Given the description of an element on the screen output the (x, y) to click on. 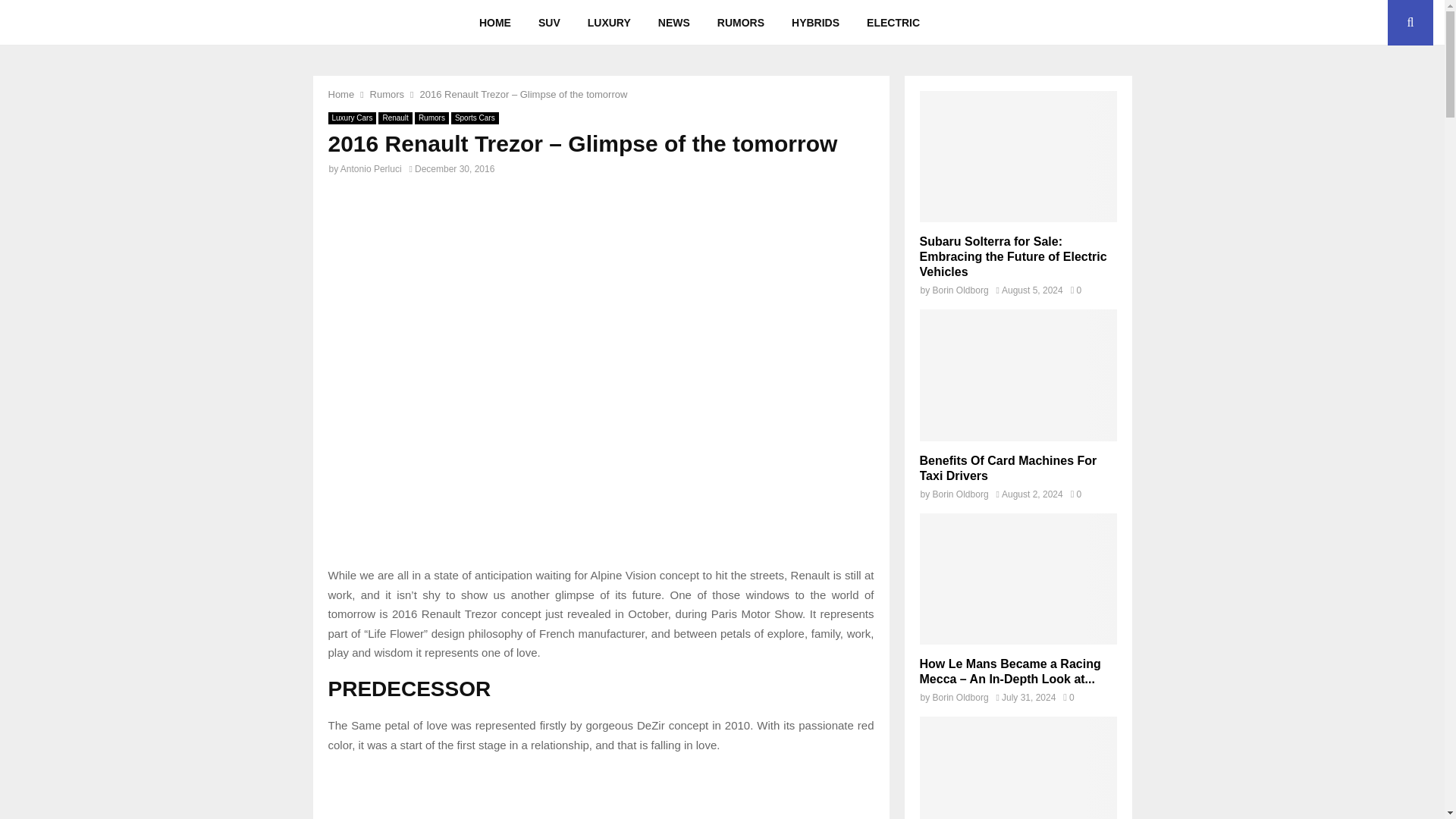
Sports Cars (475, 118)
NEWS (674, 22)
RUMORS (740, 22)
HOME (494, 22)
Renault (395, 118)
Home (340, 93)
 Benefits Of Card Machines For Taxi Drivers  (1007, 468)
Benefits Of Card Machines For Taxi Drivers (1017, 374)
Antonio Perluci (370, 168)
